Given the description of an element on the screen output the (x, y) to click on. 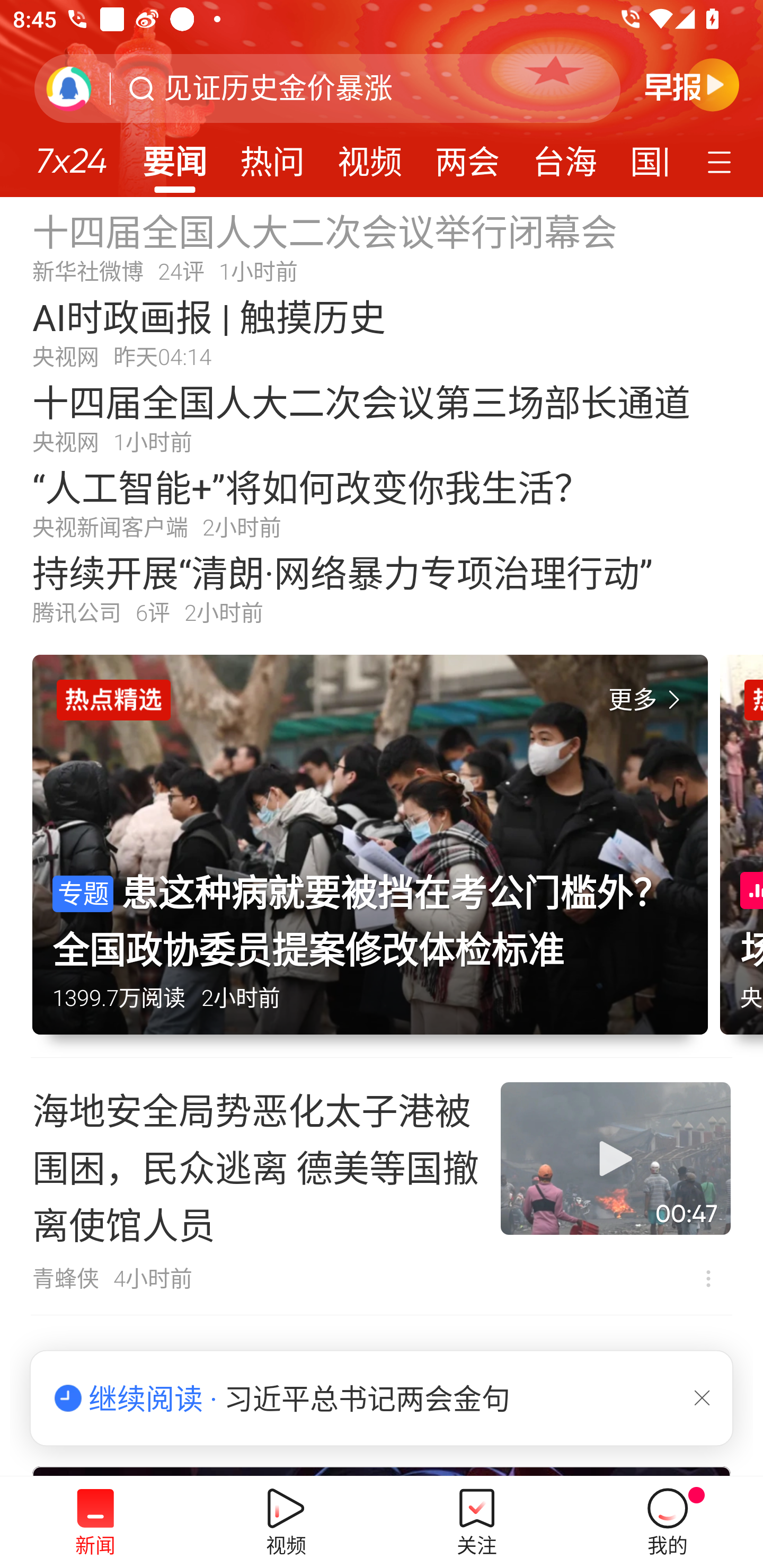
腾讯新闻 (381, 98)
早晚报 (691, 84)
刷新 (68, 88)
见证历史金价暴涨 (278, 88)
7x24 (70, 154)
要闻 (174, 155)
热问 (272, 155)
视频 (369, 155)
两会 (466, 155)
台海 (564, 155)
 定制频道 (721, 160)
十四届全国人大二次会议举行闭幕会 新华社微博 24评 1小时前 (381, 245)
AI时政画报 | 触摸历史 央视网 昨天04:14 (381, 331)
十四届全国人大二次会议第三场部长通道 央视网 1小时前 (381, 416)
“人工智能+”将如何改变你我生活？ 央视新闻客户端 2小时前 (381, 502)
持续开展“清朗·网络暴力专项治理行动” 腾讯公司 6评 2小时前 (381, 587)
更多  (648, 699)
 不感兴趣 (707, 1278)
《崩坏：星穹铁道》全新版本上线，新角色，新剧情 (381, 1394)
 (702, 1397)
